Given the description of an element on the screen output the (x, y) to click on. 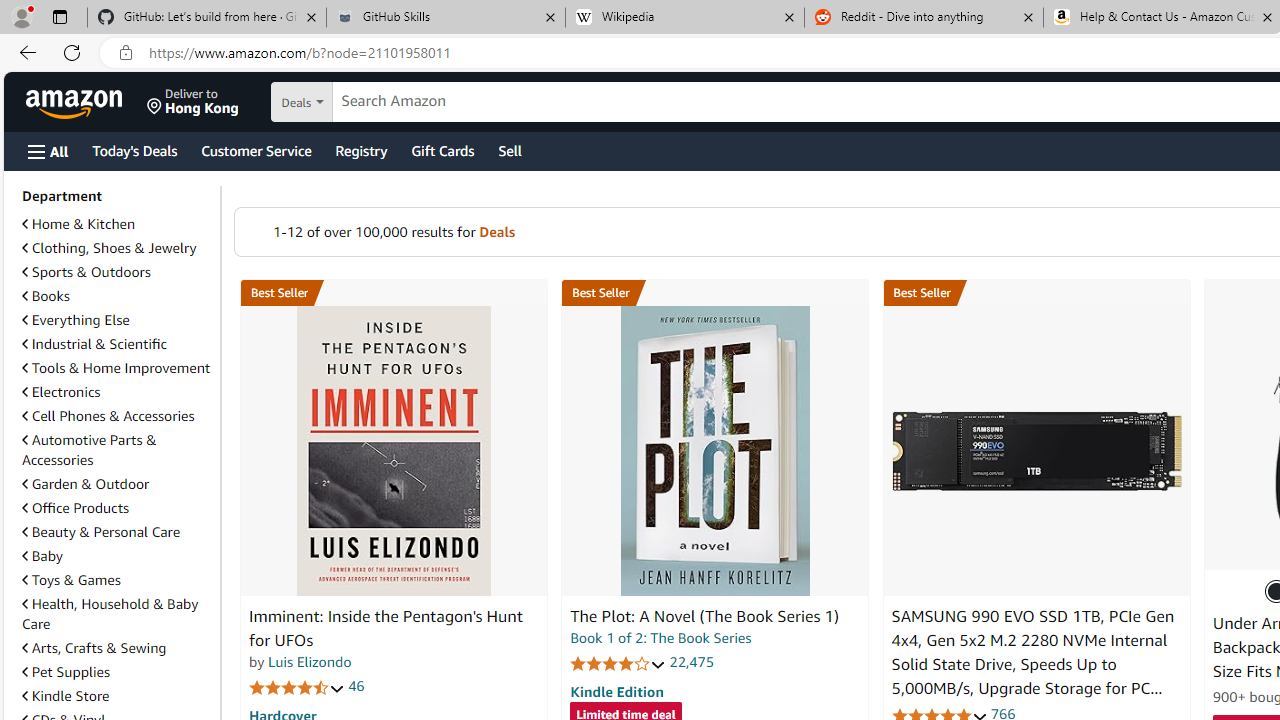
Baby (41, 556)
Back (24, 52)
22,475 (691, 662)
Refresh (72, 52)
Sell (509, 150)
Office Products (75, 507)
46 (356, 686)
Customer Service (256, 150)
Tools & Home Improvement (117, 367)
Kindle Store (65, 695)
Imminent: Inside the Pentagon's Hunt for UFOs (393, 451)
Books (117, 295)
Beauty & Personal Care (117, 532)
Toys & Games (117, 579)
